Given the description of an element on the screen output the (x, y) to click on. 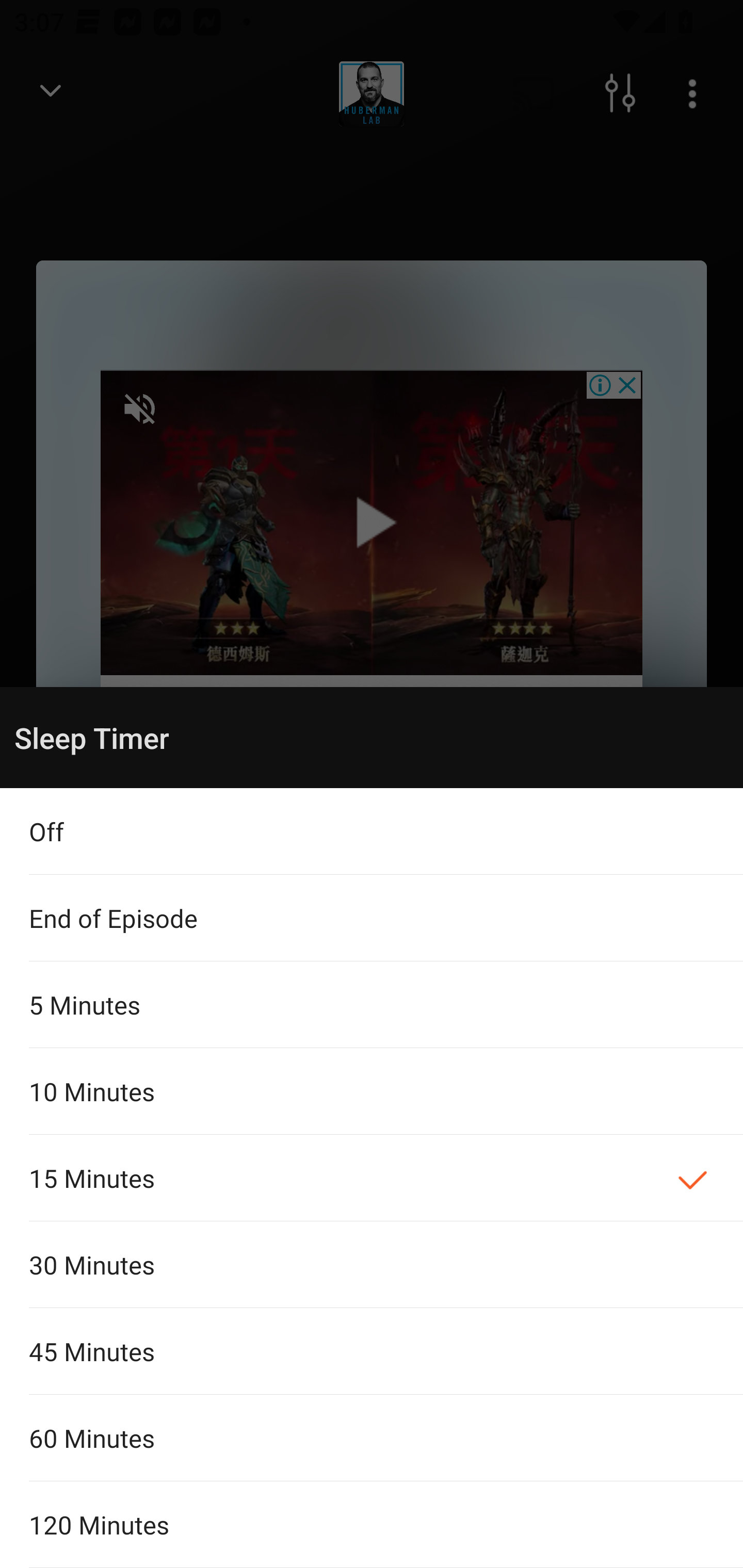
Off (371, 831)
End of Episode (371, 917)
5 Minutes (371, 1004)
10 Minutes (371, 1091)
15 Minutes (371, 1178)
30 Minutes (371, 1264)
45 Minutes (371, 1350)
60 Minutes (371, 1437)
120 Minutes (371, 1524)
